Given the description of an element on the screen output the (x, y) to click on. 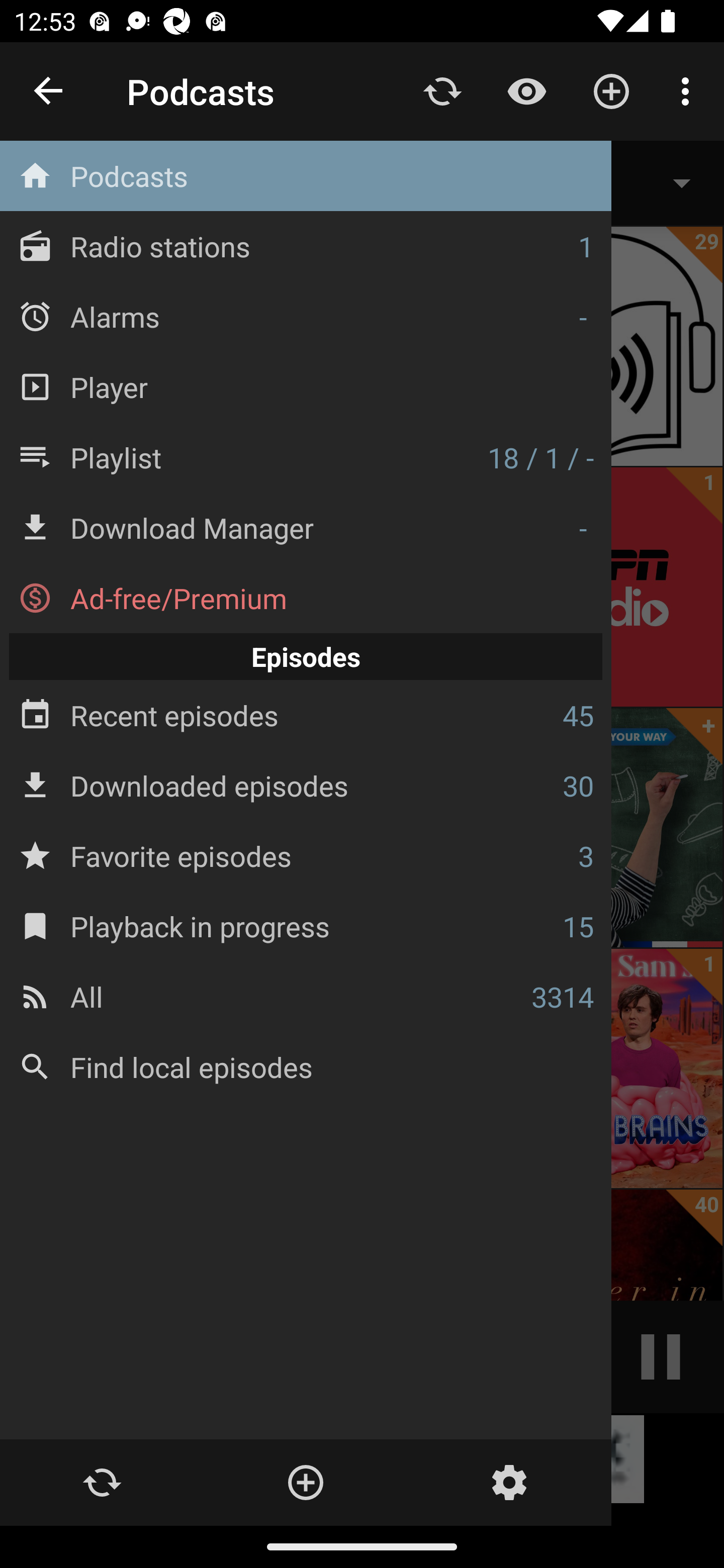
Close navigation sidebar (49, 91)
Update (442, 90)
Show / Hide played content (526, 90)
Add new Podcast (611, 90)
More options (688, 90)
Podcasts (305, 176)
Radio stations 1 (305, 245)
Alarms  -  (305, 315)
Player (305, 386)
Playlist 18 / 1 / - (305, 456)
Download Manager  -  (305, 527)
Ad-free/Premium (305, 597)
Recent episodes 45 (305, 715)
Downloaded episodes 30 (305, 785)
Favorite episodes 3 (305, 855)
Playback in progress 15 (305, 925)
All 3314 (305, 996)
Find local episodes (305, 1066)
Update (101, 1482)
Add new Podcast (304, 1482)
Settings (508, 1482)
